Given the description of an element on the screen output the (x, y) to click on. 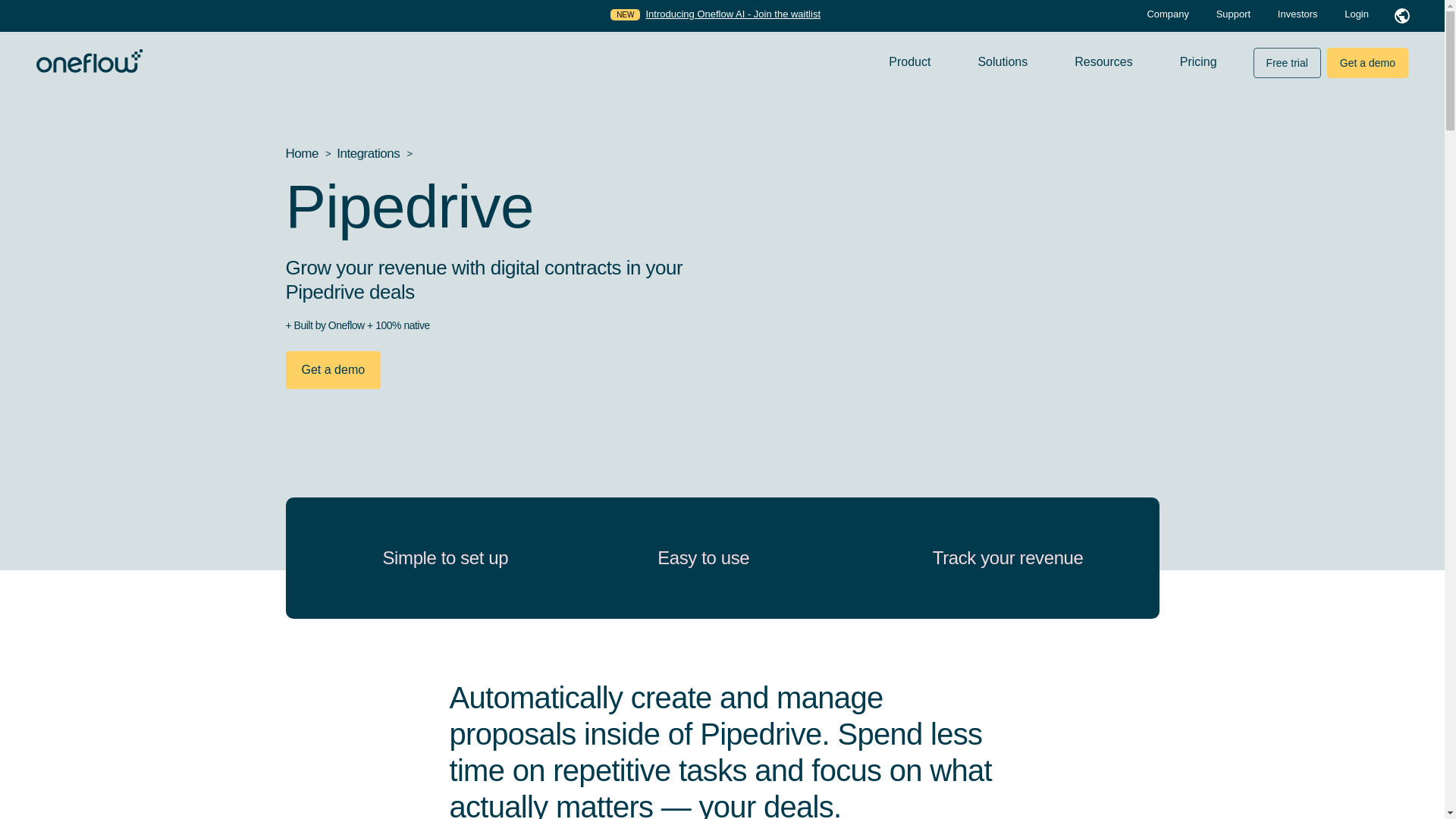
Select Language (1401, 15)
Login (1355, 13)
Support (1234, 13)
Investors (1299, 13)
Company (1169, 13)
NEWIntroducing Oneflow AI - Join the waitlist (715, 13)
